Given the description of an element on the screen output the (x, y) to click on. 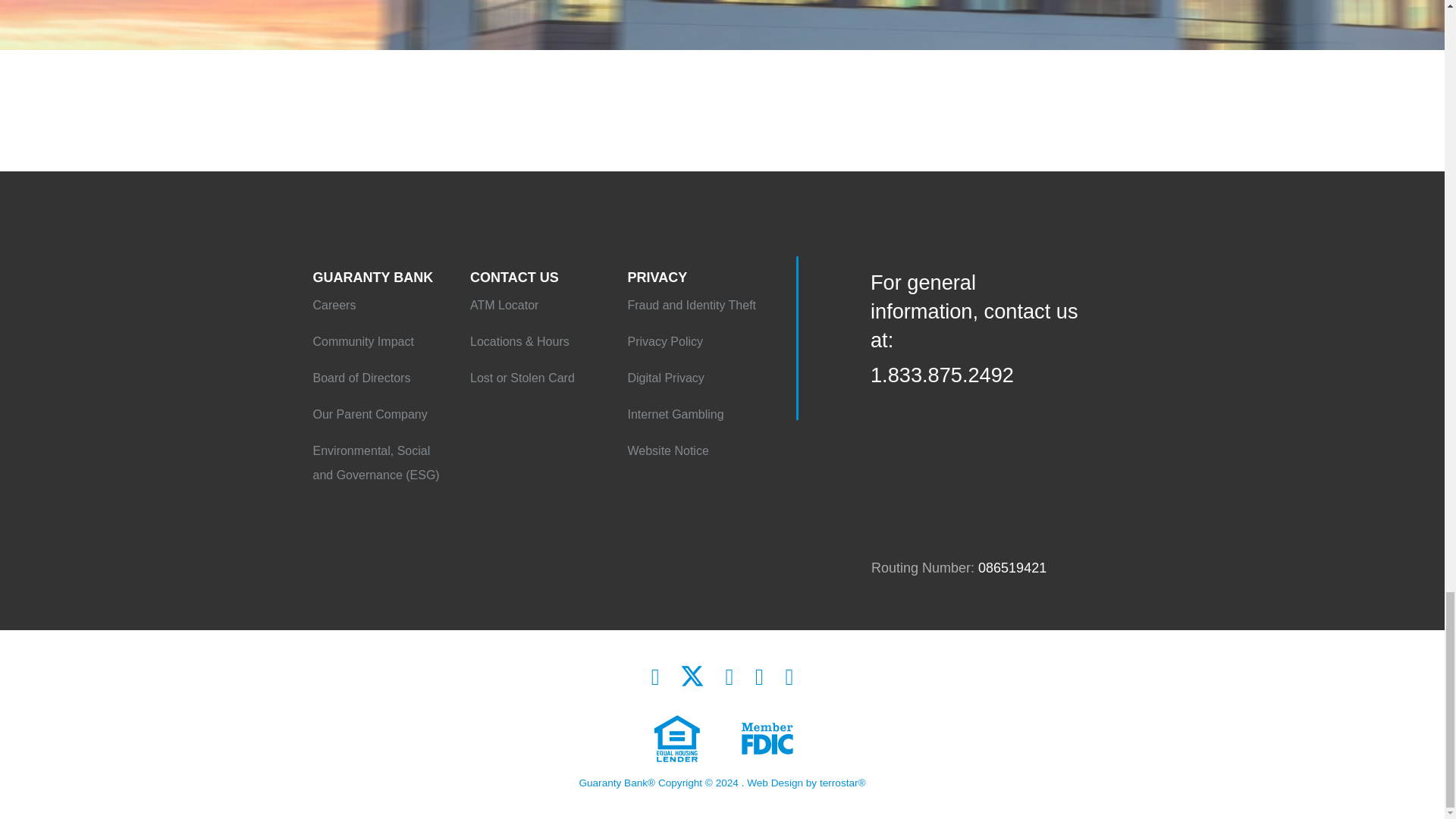
Member FDIC (672, 740)
Twitter (692, 676)
